Given the description of an element on the screen output the (x, y) to click on. 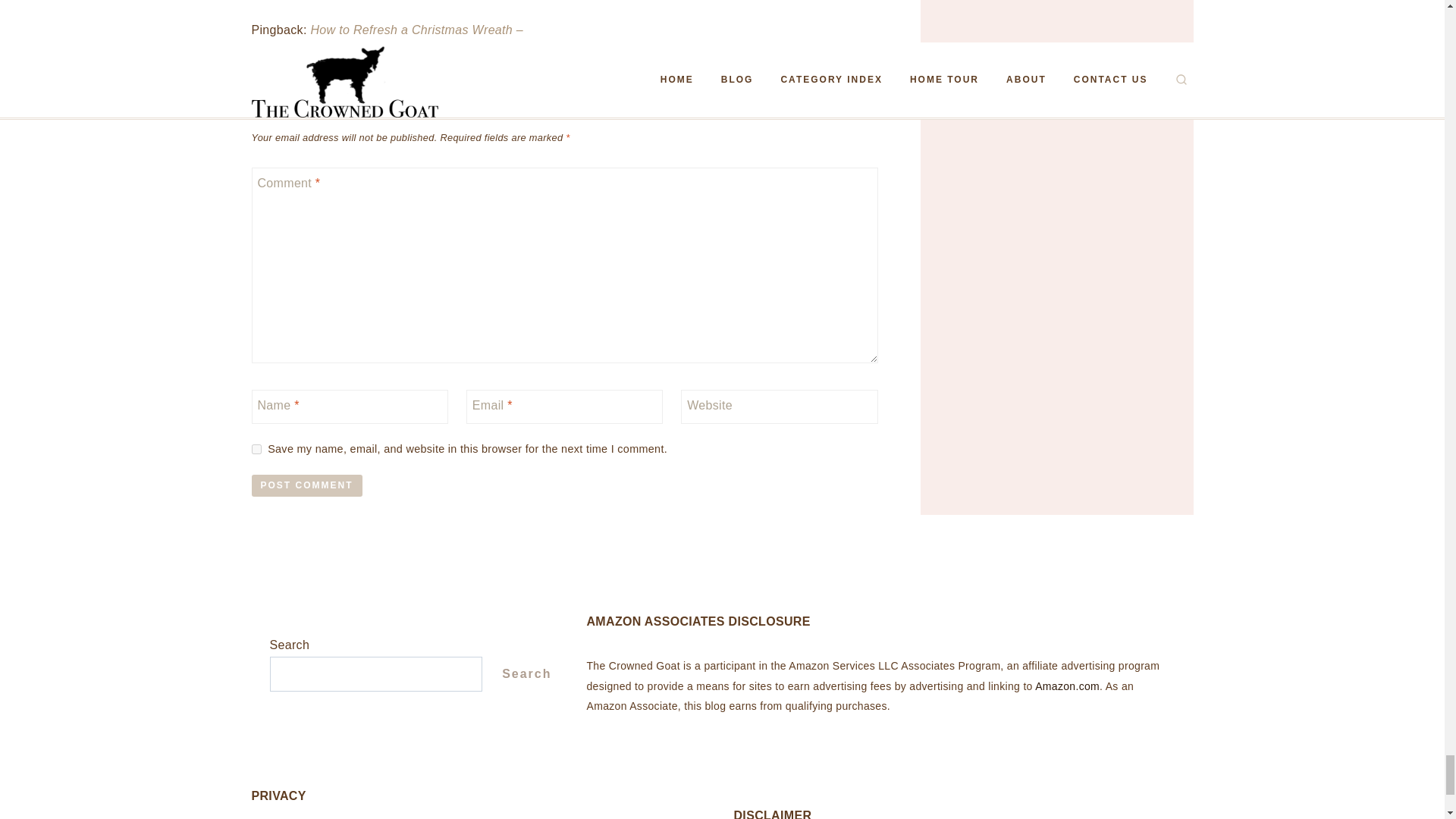
yes (256, 449)
Post Comment (306, 485)
